Given the description of an element on the screen output the (x, y) to click on. 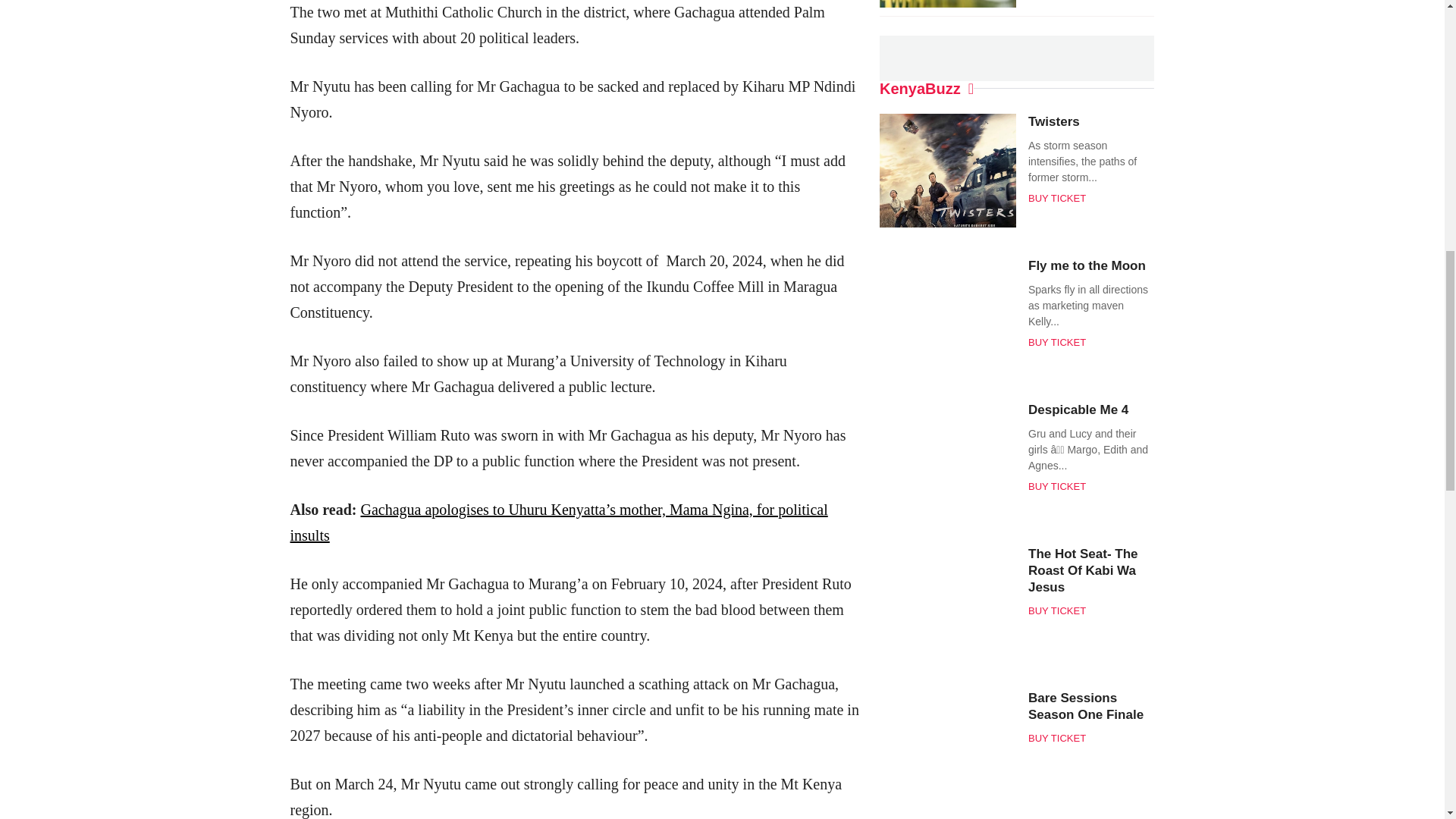
Facebook (681, 49)
How German-based TikToker Nyako paid tribute to Brian Chira (234, 50)
Twitter (708, 49)
